Given the description of an element on the screen output the (x, y) to click on. 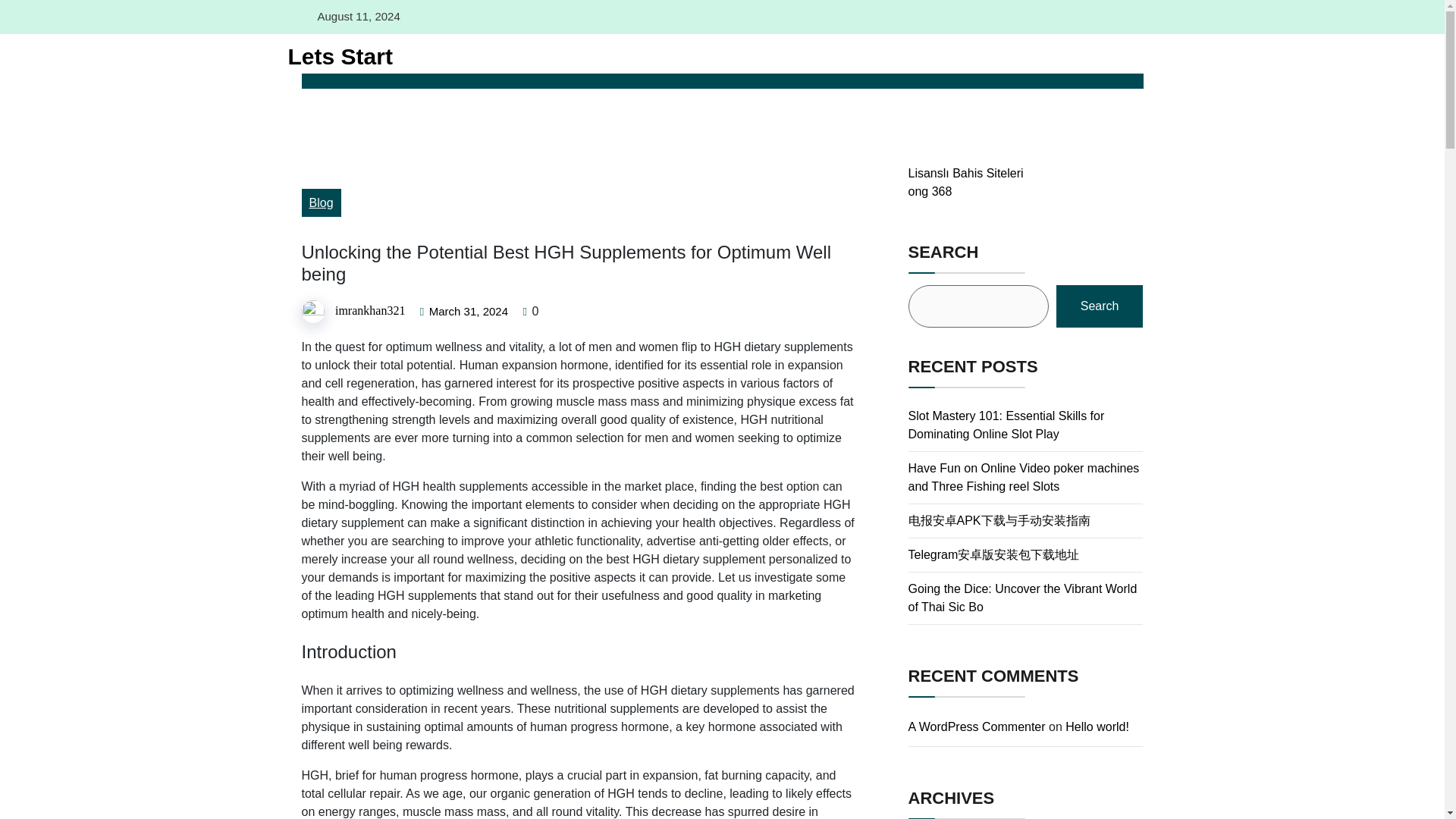
Blog (320, 203)
Hello world! (1097, 726)
imrankhan321 (369, 310)
Going the Dice: Uncover the Vibrant World of Thai Sic Bo (1022, 597)
A WordPress Commenter (976, 726)
March 31, 2024 (468, 311)
Lets Start (333, 56)
ong 368 (930, 191)
